Given the description of an element on the screen output the (x, y) to click on. 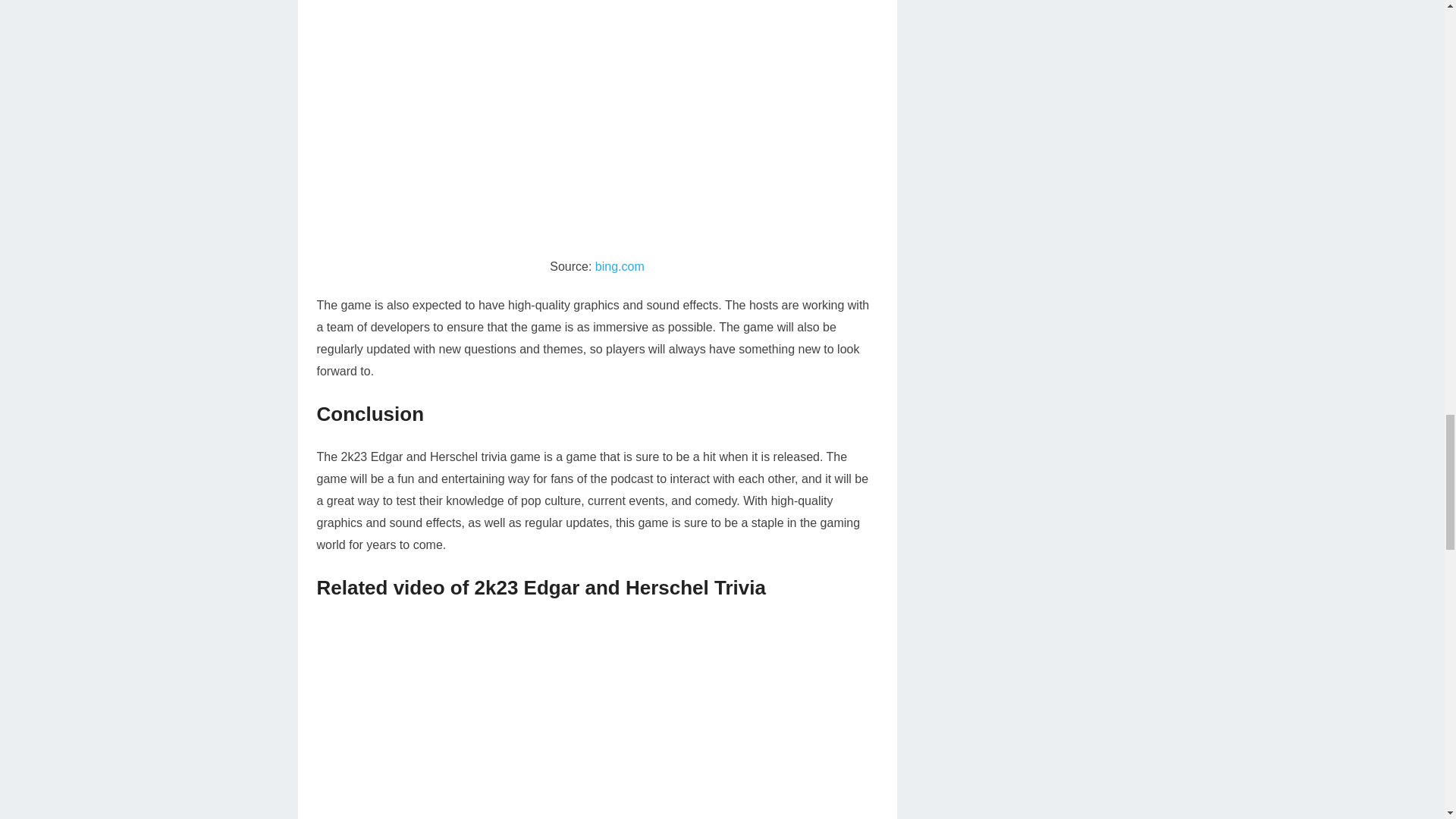
bing.com (620, 266)
Herschel And Edgar Correct Answers NBA 2K23 Next Gen (597, 719)
